Given the description of an element on the screen output the (x, y) to click on. 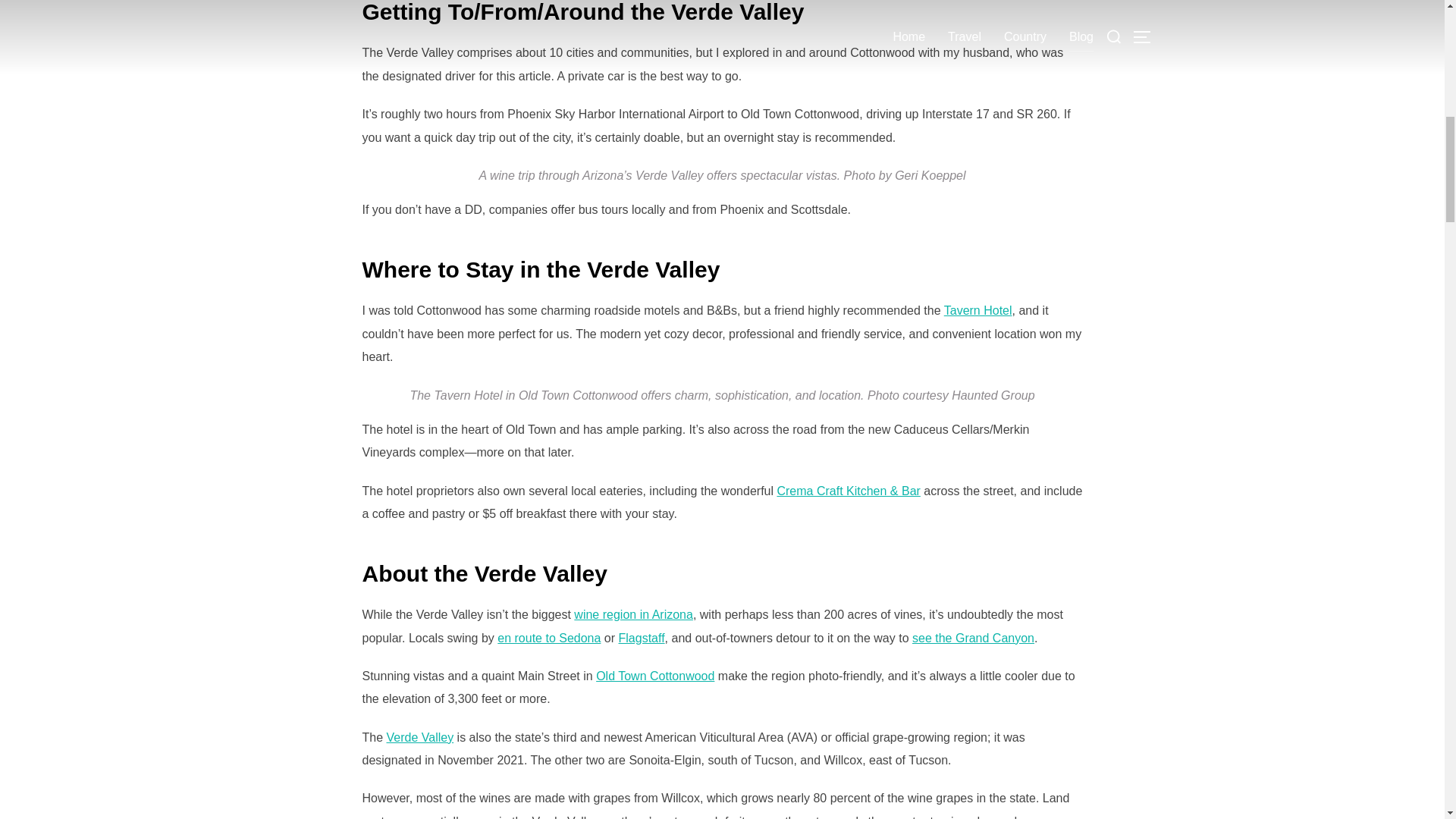
Flagstaff (641, 636)
en route to Sedona (548, 636)
Tavern Hotel (977, 309)
see the Grand Canyon (972, 636)
Old Town Cottonwood (654, 675)
Verde Valley (420, 737)
wine region in Arizona (633, 614)
